Given the description of an element on the screen output the (x, y) to click on. 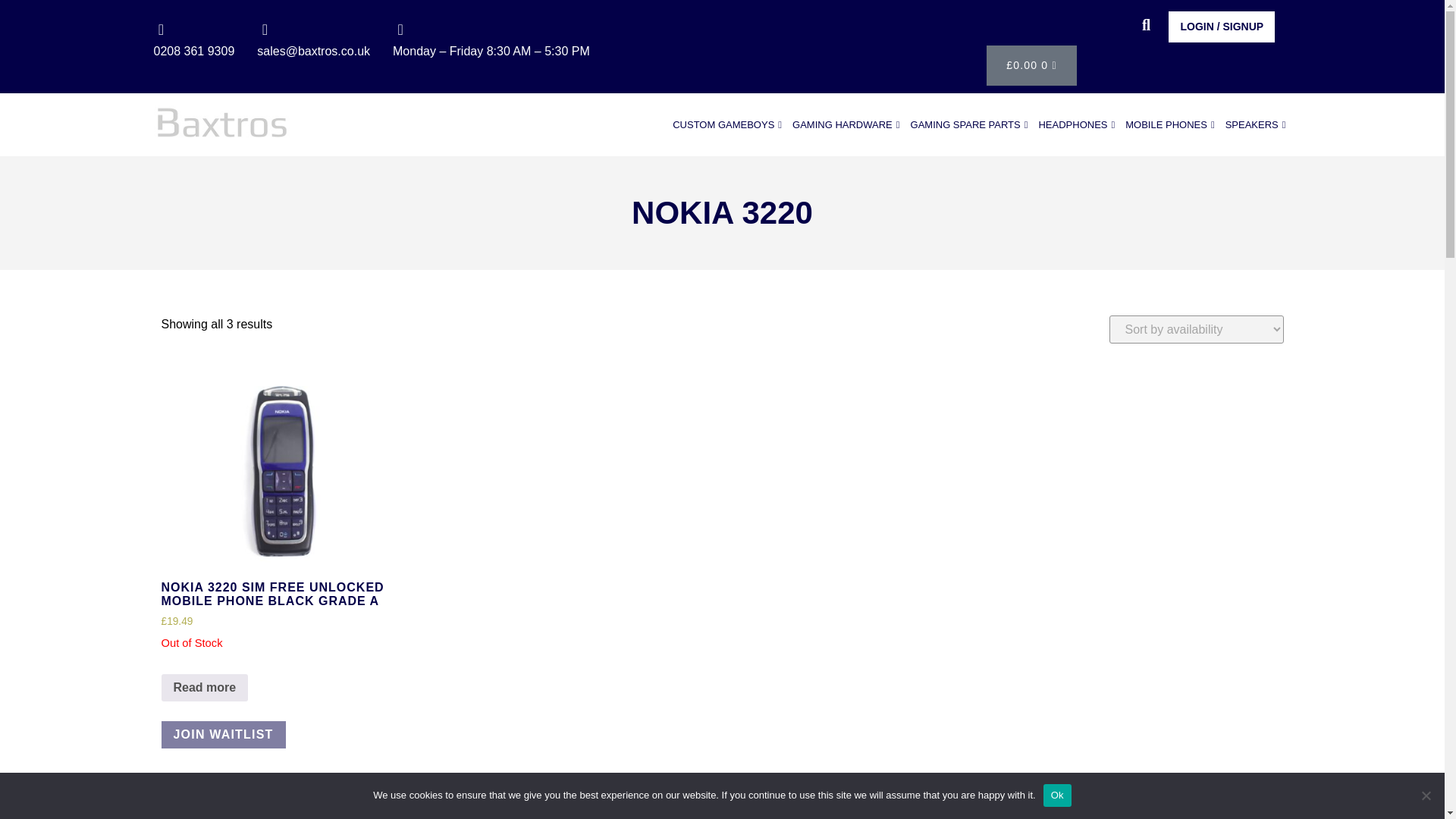
CUSTOM GAMEBOYS (729, 124)
0208 361 9309 (193, 51)
GAMING HARDWARE (845, 124)
No (1425, 795)
